Given the description of an element on the screen output the (x, y) to click on. 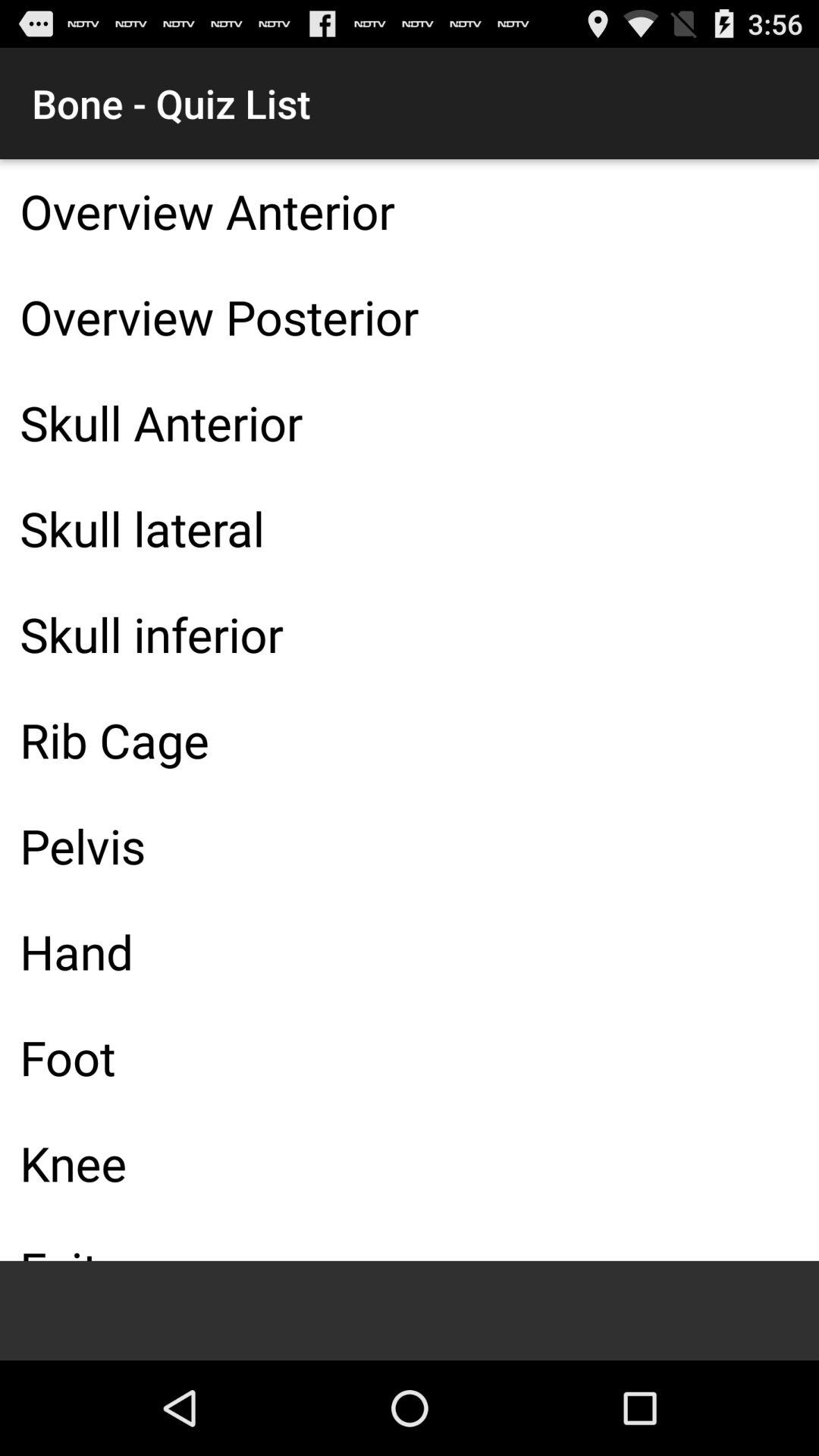
scroll to skull lateral app (409, 528)
